Given the description of an element on the screen output the (x, y) to click on. 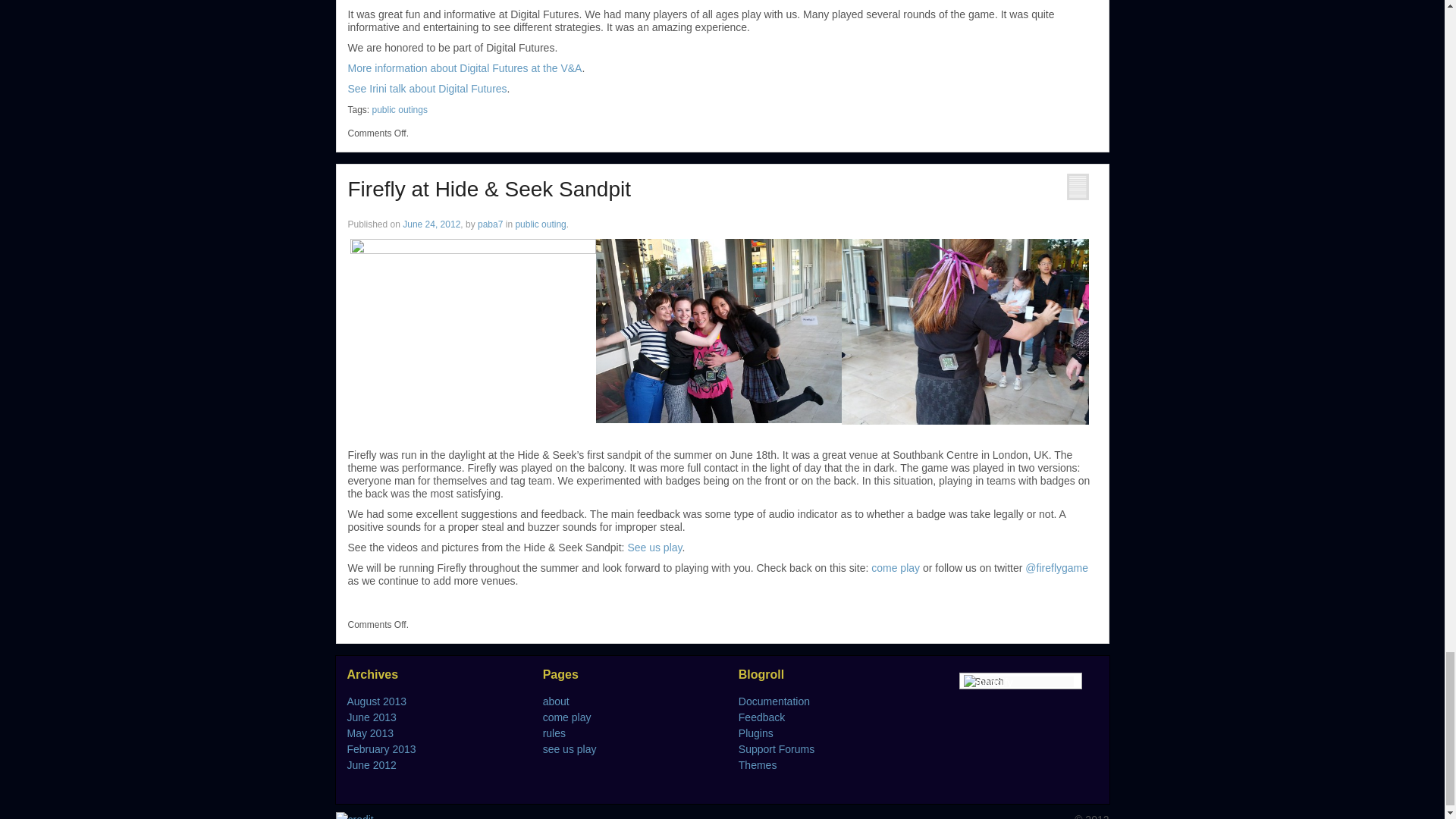
badge (965, 332)
Posts by paba7 (489, 224)
View all posts in public outing (540, 224)
Search (1024, 681)
firefly (718, 331)
